Given the description of an element on the screen output the (x, y) to click on. 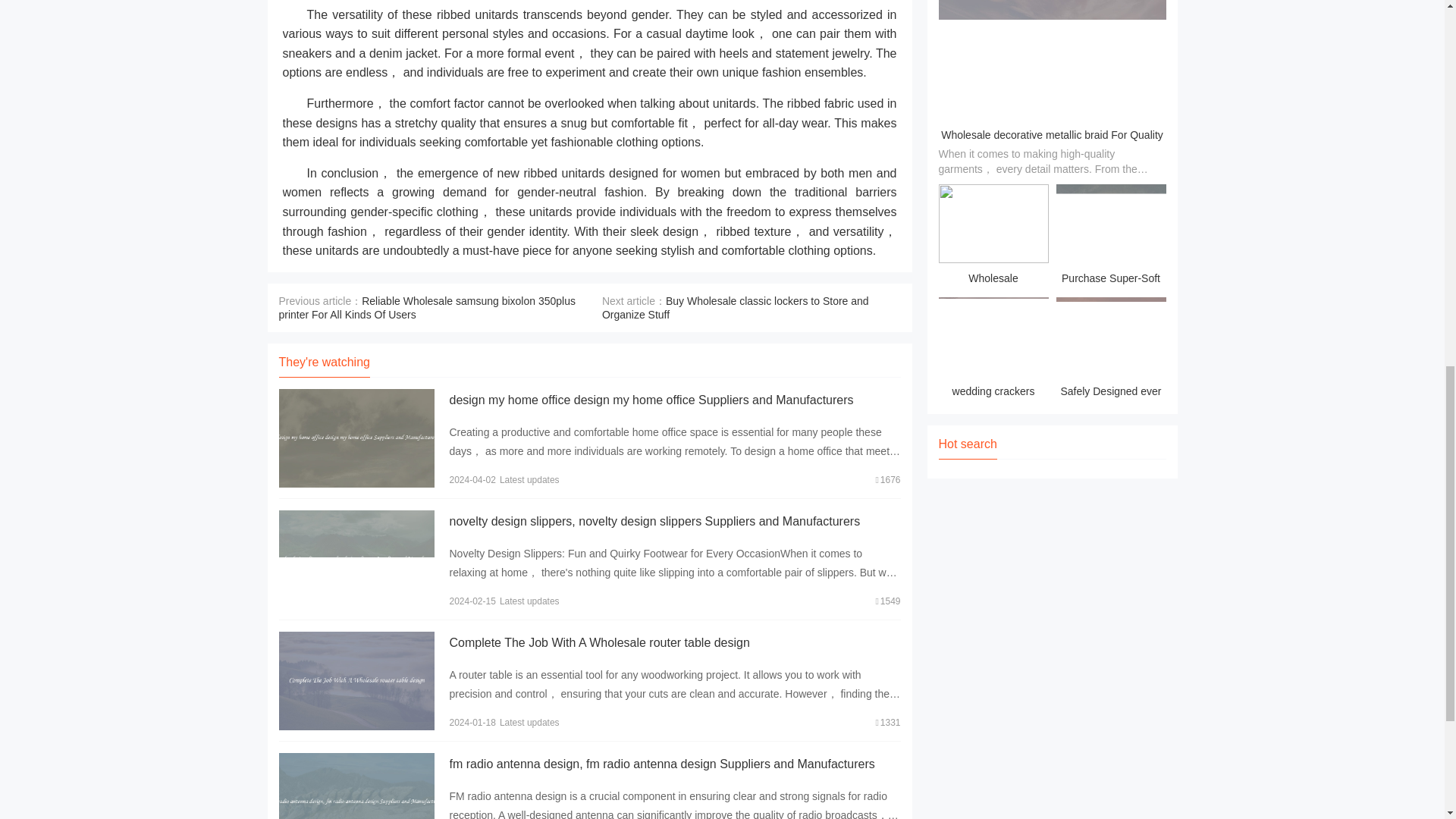
Complete The Job With A Wholesale router table design (598, 642)
Safely Designed ever for sell For Fun And Learning (1110, 349)
Buy Wholesale classic lockers to Store and Organize Stuff (735, 307)
